Given the description of an element on the screen output the (x, y) to click on. 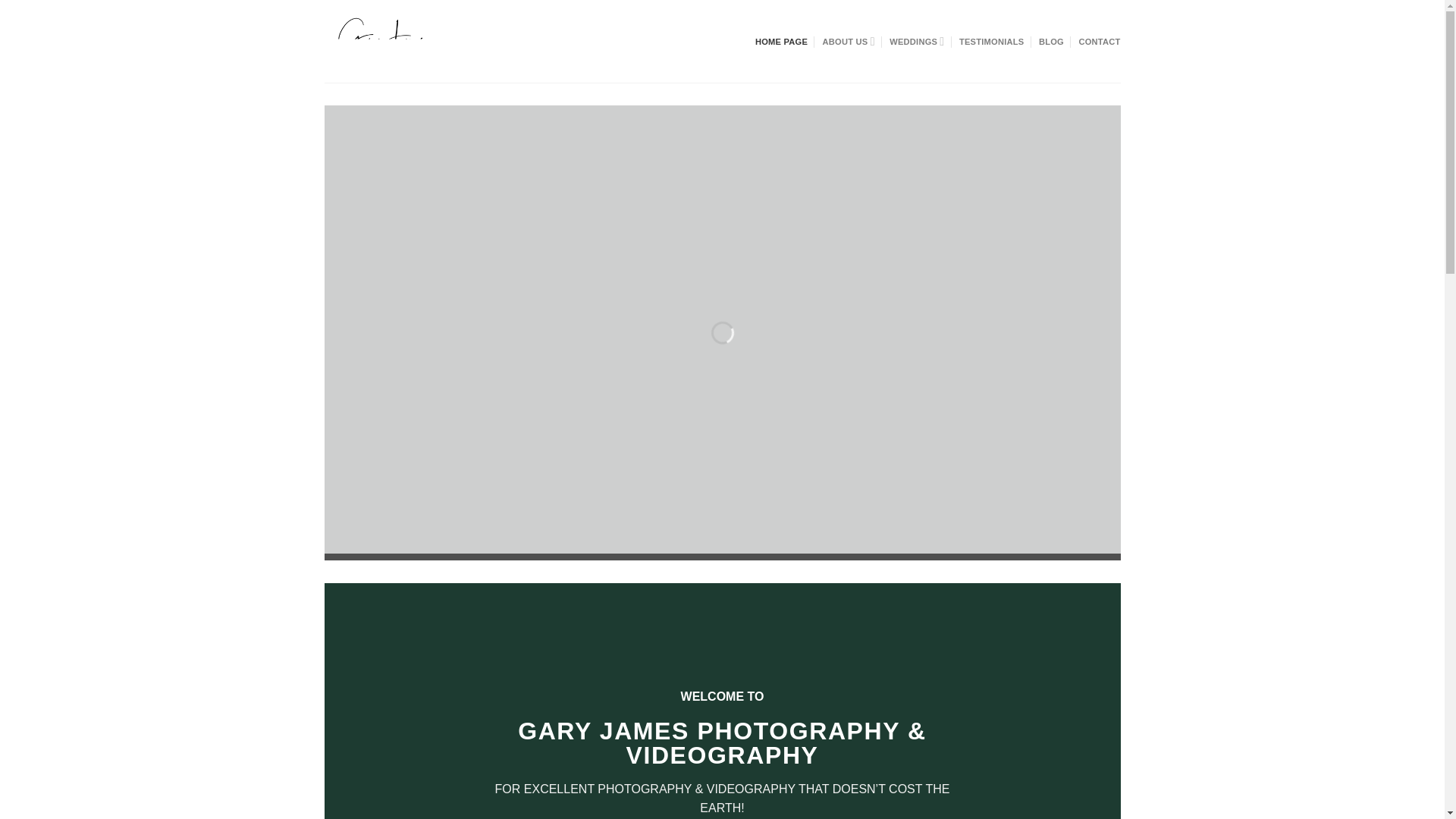
BLOG (1051, 40)
WEDDINGS (916, 41)
HOME PAGE (781, 40)
TESTIMONIALS (992, 40)
CONTACT (1098, 40)
ABOUT US (848, 41)
